Given the description of an element on the screen output the (x, y) to click on. 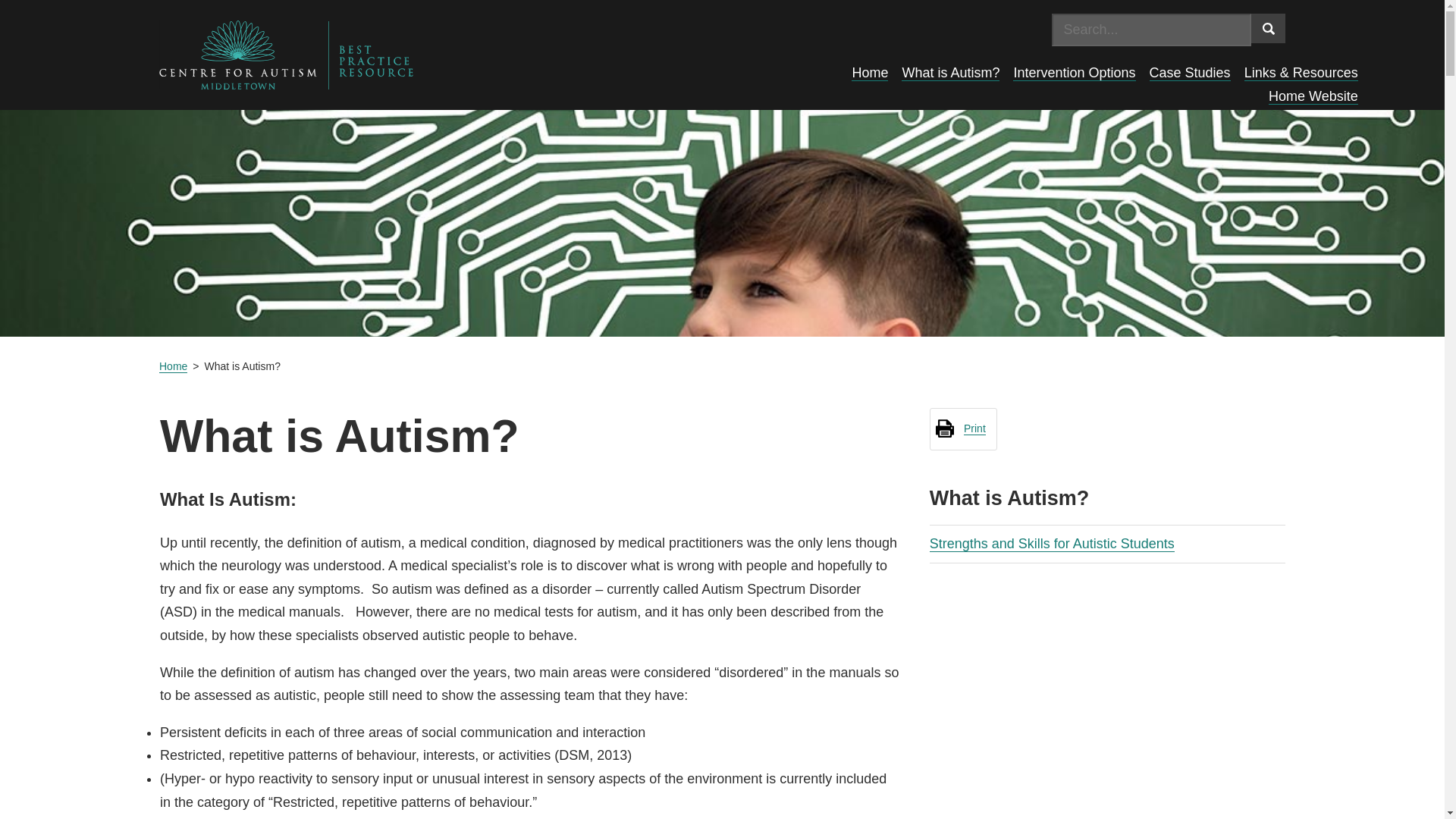
Print (960, 428)
Search (1267, 28)
Home (172, 366)
Strengths and Skills for Autistic Students (1052, 544)
